Given the description of an element on the screen output the (x, y) to click on. 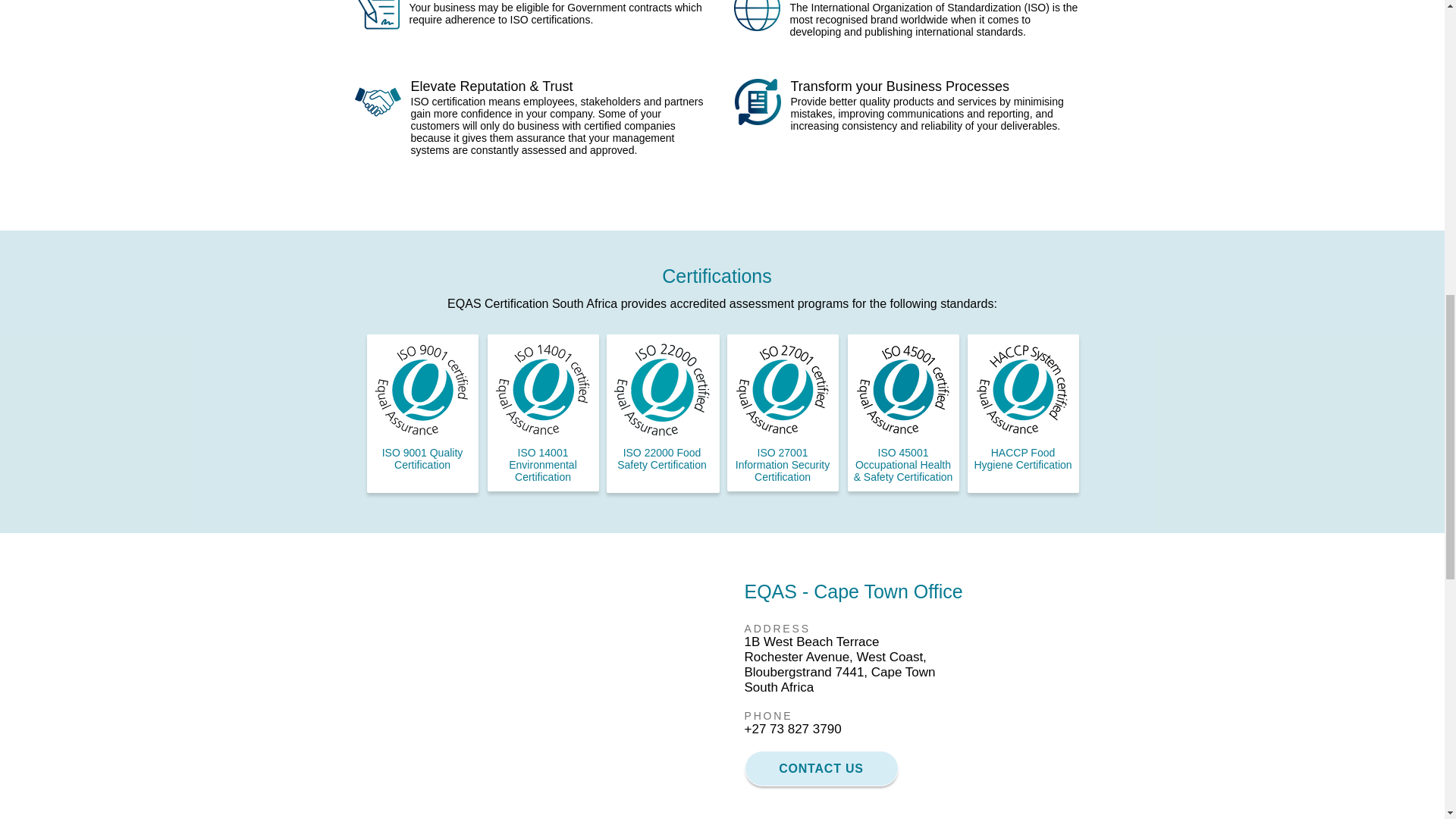
ISO 14001 Environmental Certification (542, 464)
Embedded Content (543, 685)
ISO 9001 Quality Certification (422, 458)
